Given the description of an element on the screen output the (x, y) to click on. 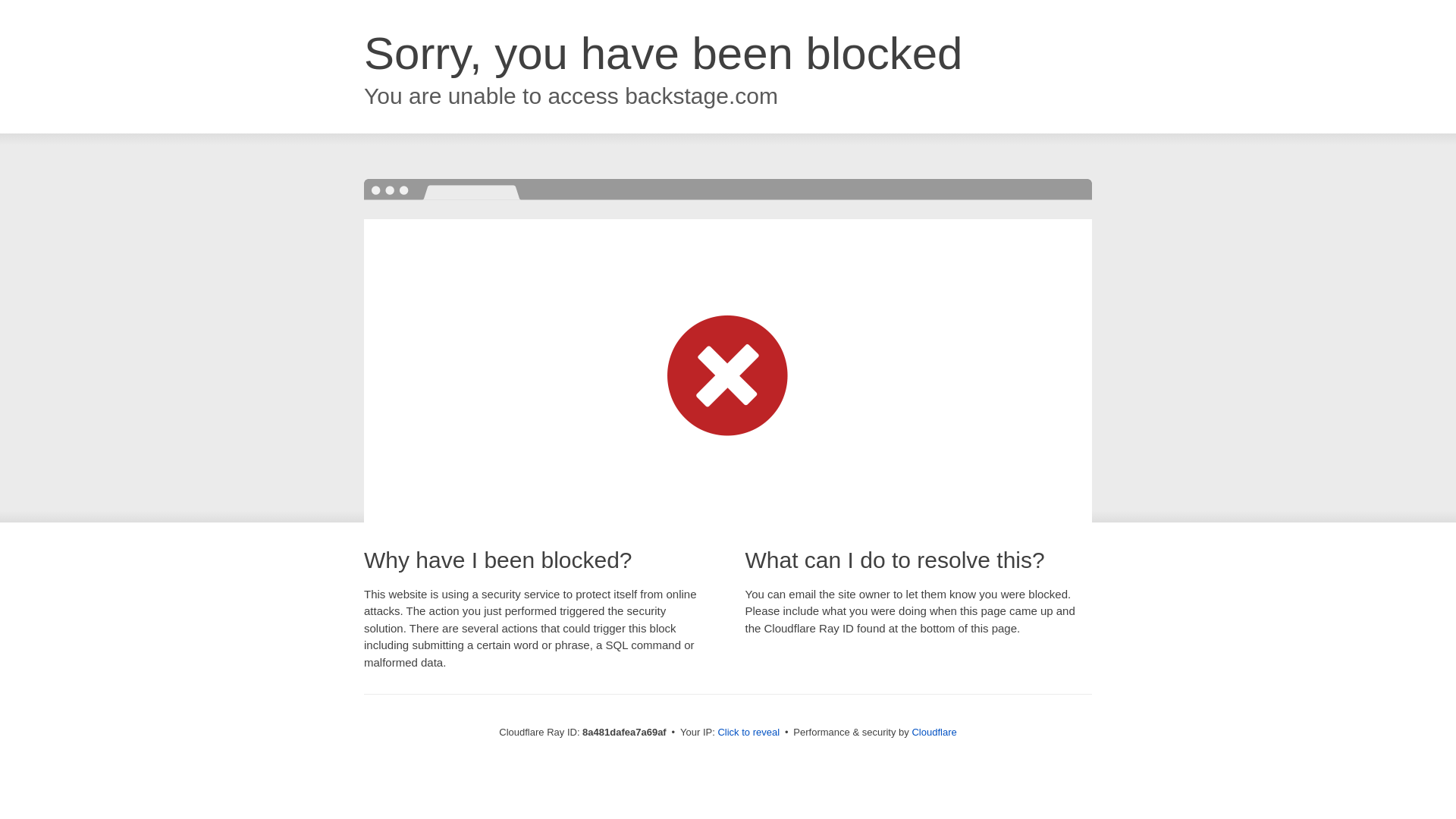
Cloudflare (933, 731)
Click to reveal (747, 732)
